Given the description of an element on the screen output the (x, y) to click on. 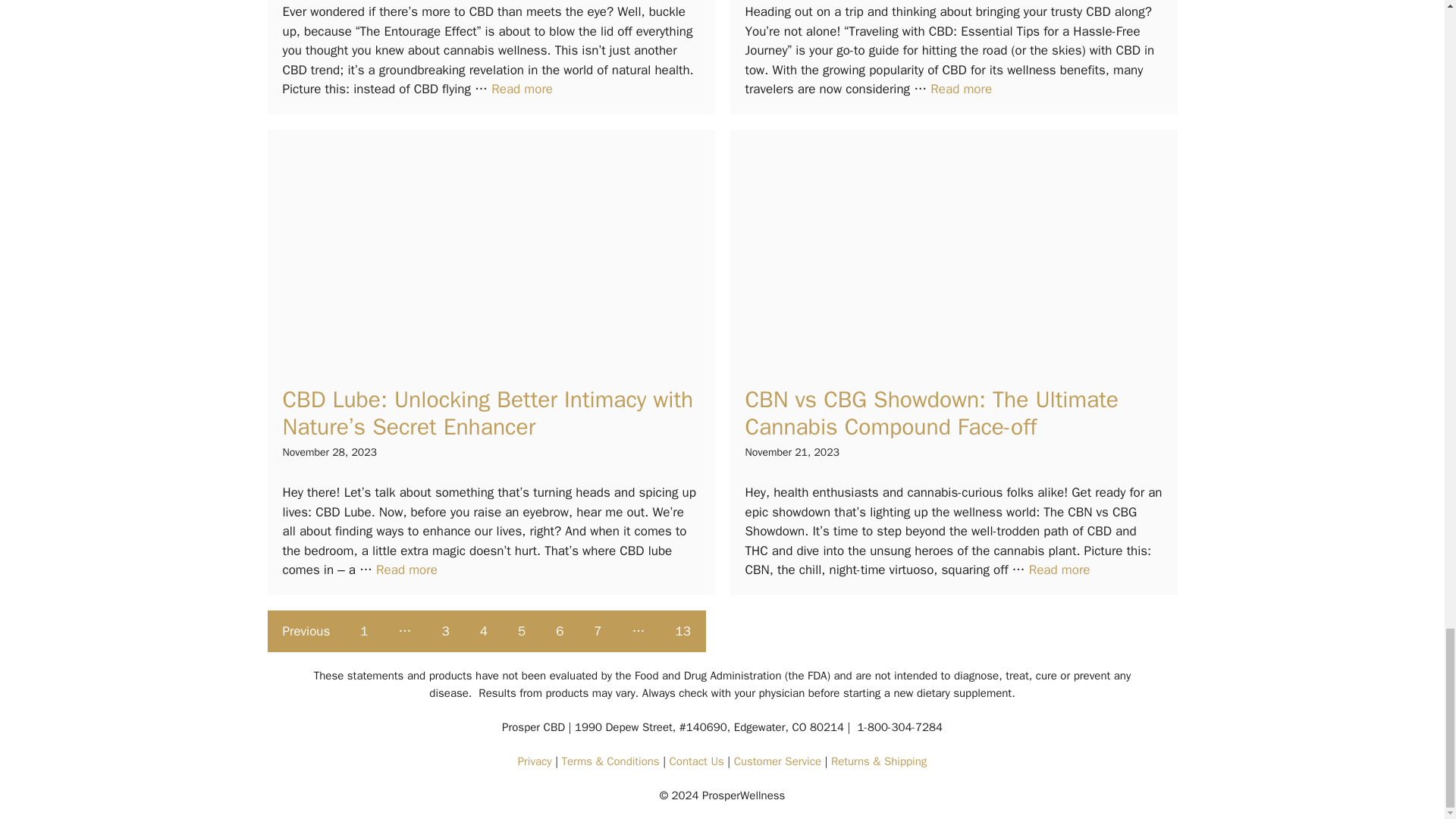
CBN vs CBG Showdown: The Ultimate Cannabis Compound Face-off (1059, 569)
Traveling with CBD: Essential Tips for a Hassle-Free Journey (960, 89)
Previous (305, 631)
Read more (1059, 569)
Read more (960, 89)
Read more (406, 569)
CBN vs CBG Showdown: The Ultimate Cannabis Compound Face-off (931, 412)
1 (363, 631)
Read more (522, 89)
3 (445, 631)
